Given the description of an element on the screen output the (x, y) to click on. 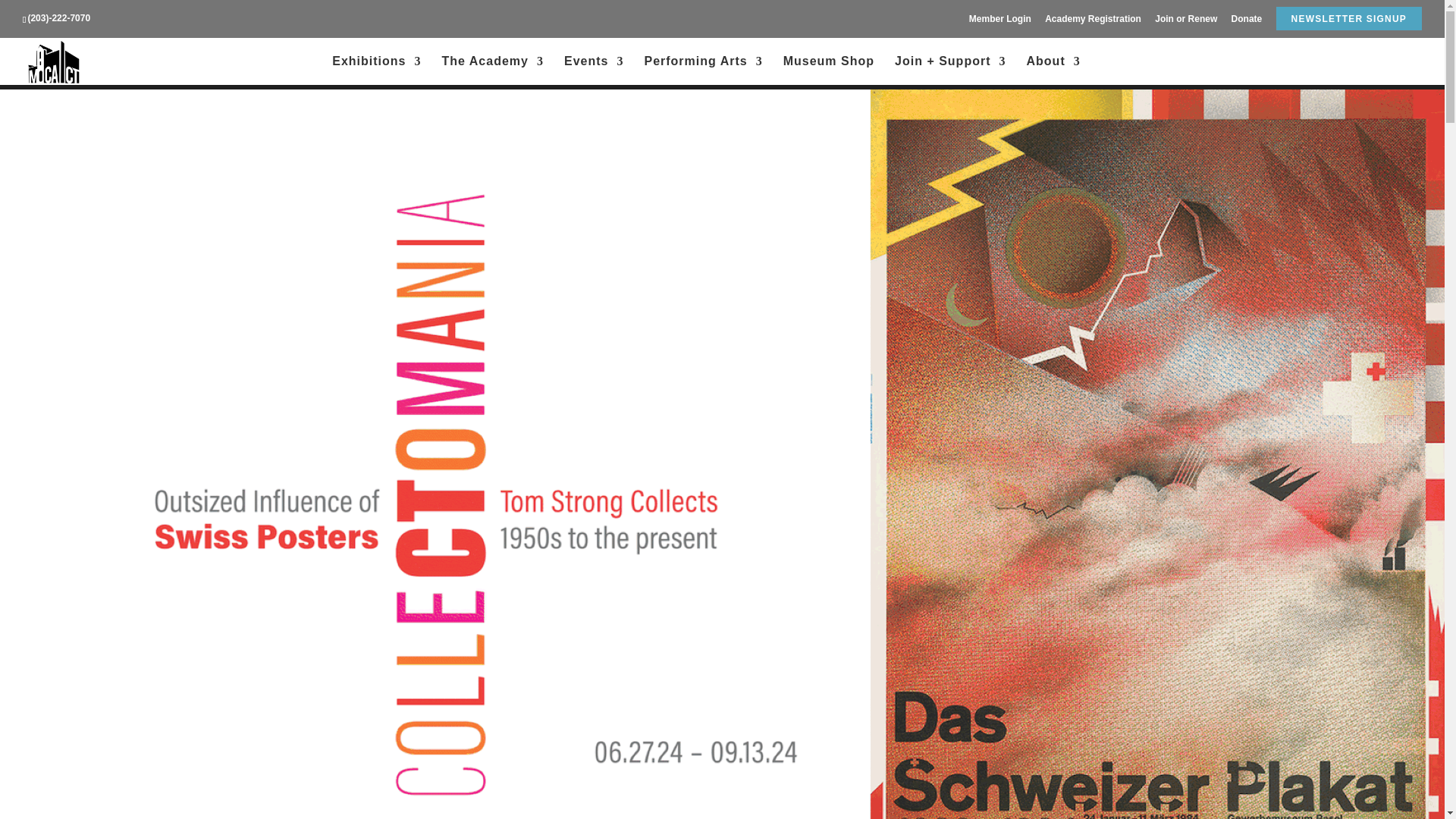
NEWSLETTER SIGNUP (1348, 22)
Join or Renew (1185, 22)
Performing Arts (702, 70)
The Academy (492, 70)
Exhibitions (375, 70)
About (1053, 70)
Museum Shop (829, 70)
Events (593, 70)
Donate (1246, 22)
Member Login (999, 22)
Academy Registration (1093, 22)
